Given the description of an element on the screen output the (x, y) to click on. 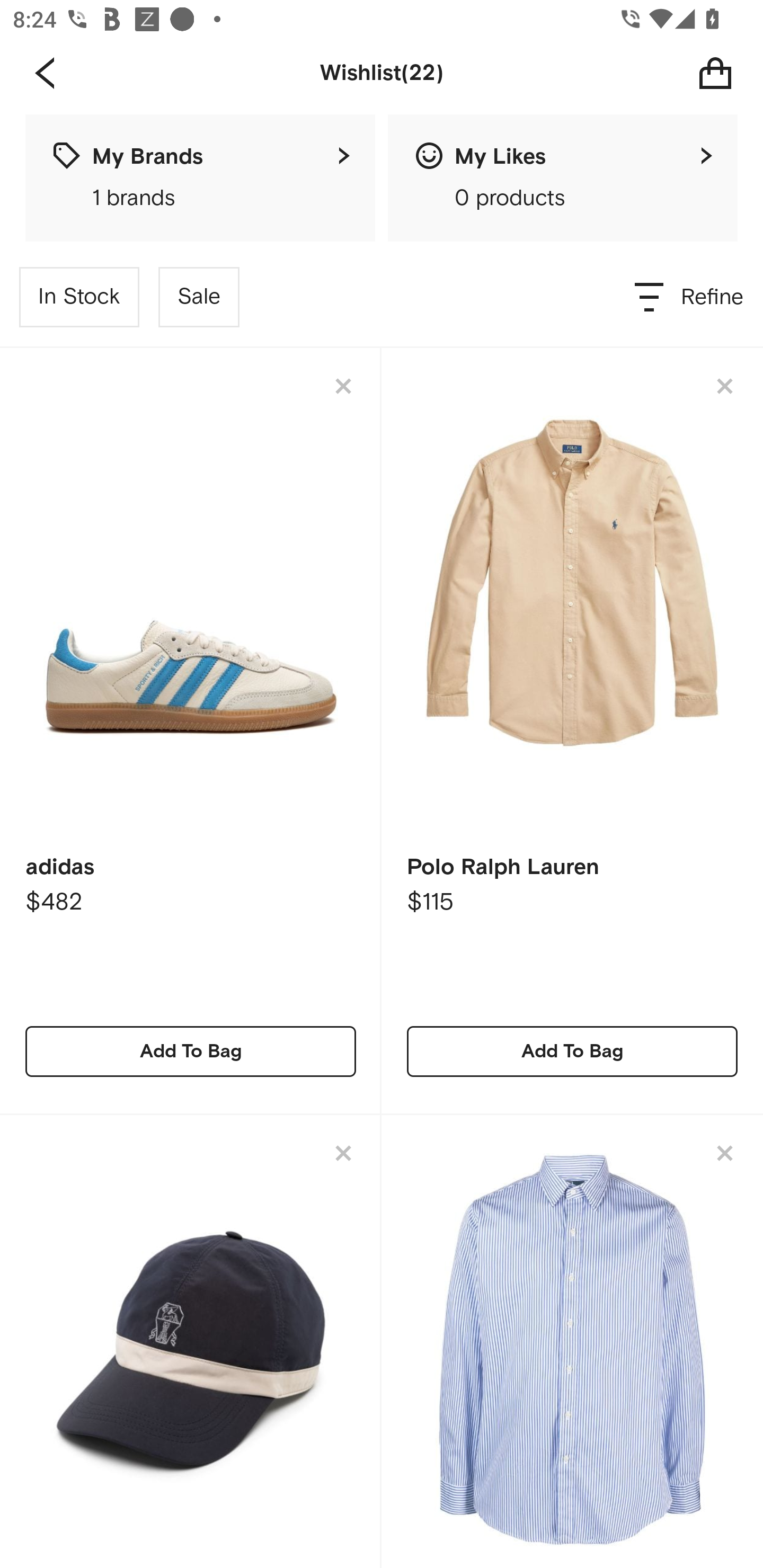
My Brands 1 brands (200, 177)
My Likes 0 products (562, 177)
In Stock (79, 296)
Sale (198, 296)
Refine (690, 296)
adidas $482 Add To Bag (190, 731)
Polo Ralph Lauren $115 Add To Bag (572, 731)
Add To Bag (190, 1050)
Add To Bag (571, 1050)
